Given the description of an element on the screen output the (x, y) to click on. 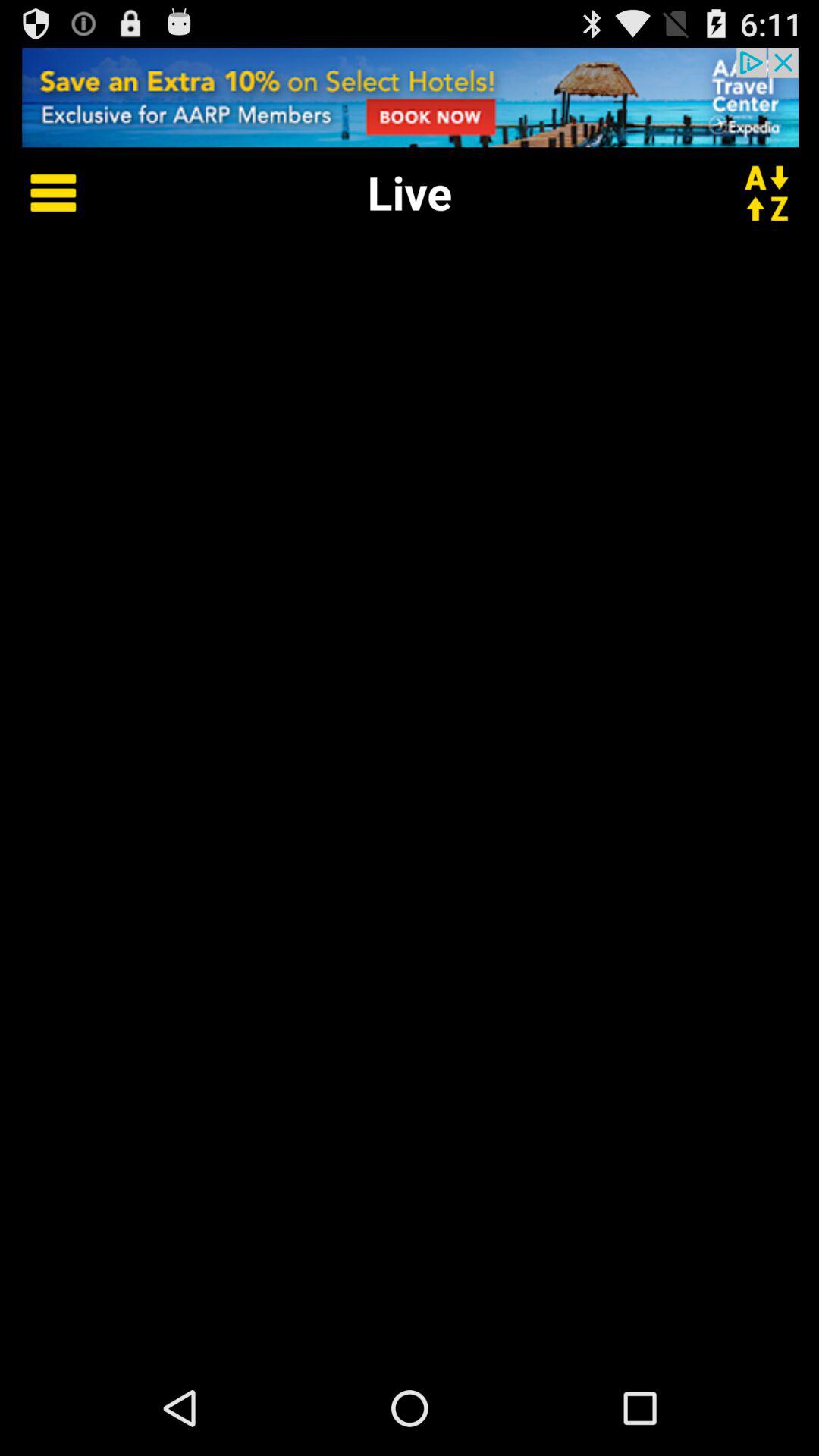
click a to z order (776, 192)
